Given the description of an element on the screen output the (x, y) to click on. 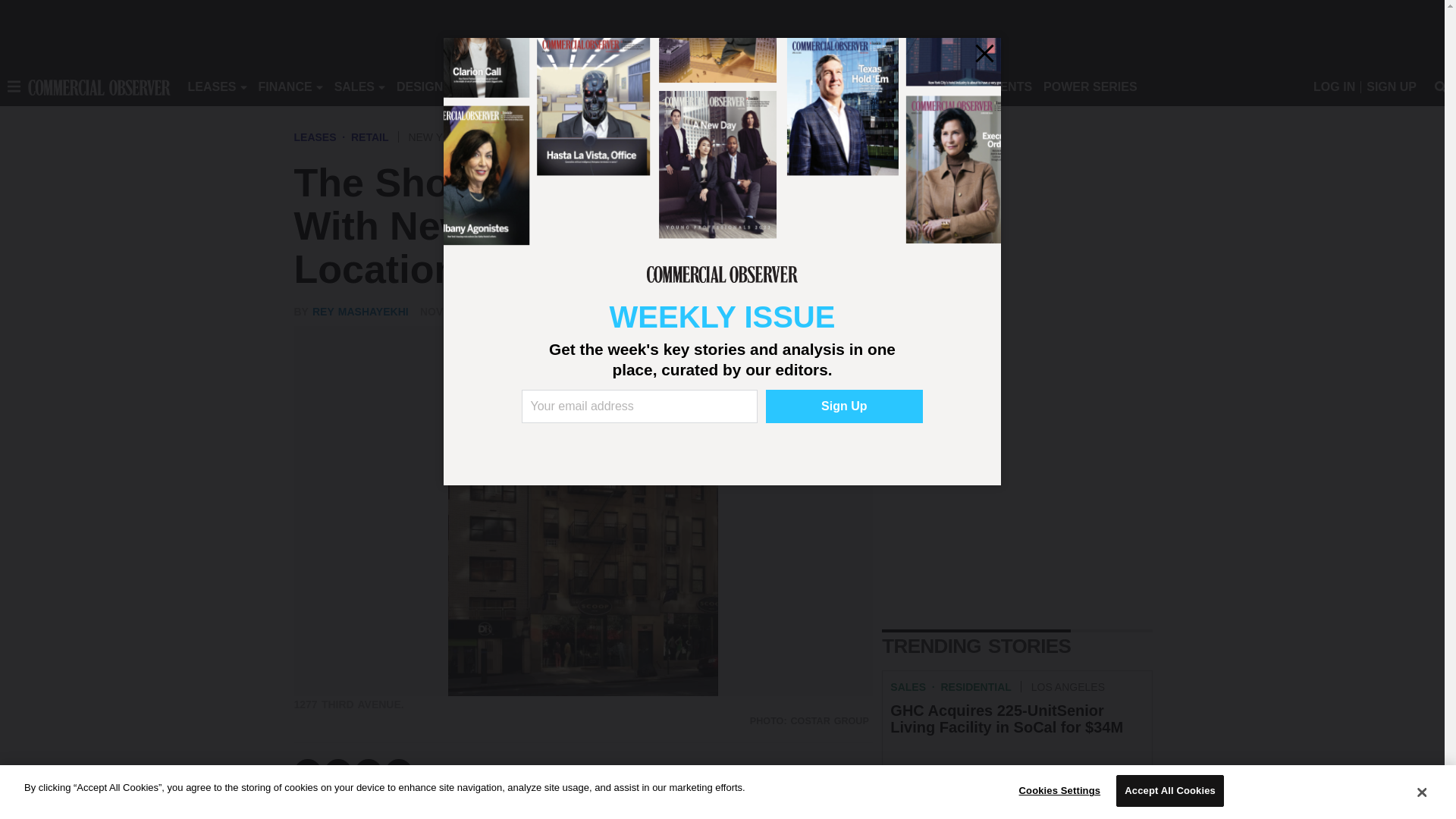
Tweet (338, 772)
Commercial Observer Home (98, 86)
Share on LinkedIn (368, 772)
FINANCE (286, 86)
Send email (398, 772)
TECHNOLOGY (619, 86)
Share on Facebook (307, 772)
MORE (691, 86)
LEASES (211, 86)
SALES (354, 86)
Posts by Rey Mashayekhi (361, 311)
